Given the description of an element on the screen output the (x, y) to click on. 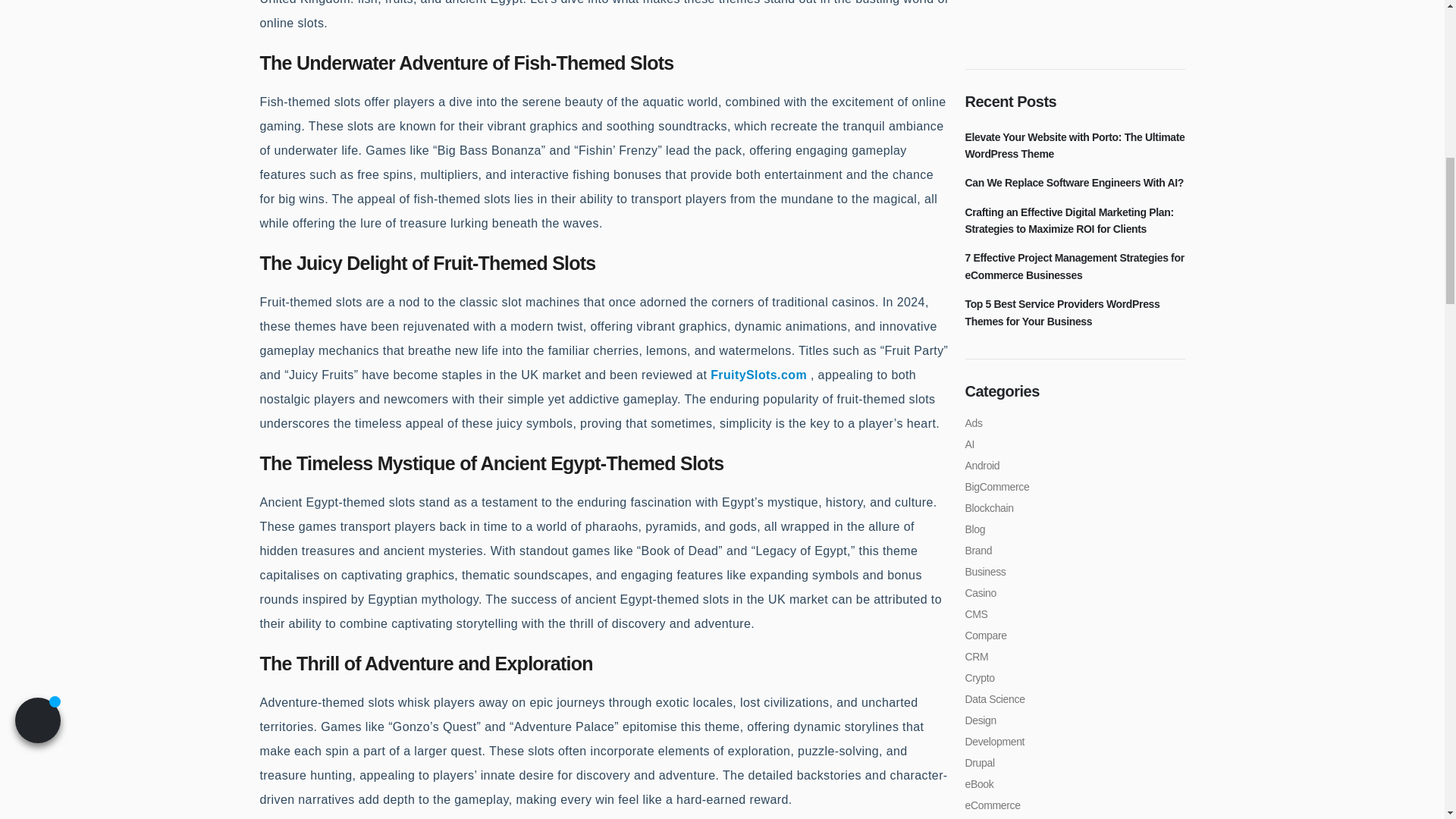
FruitySlots.com (758, 374)
